Given the description of an element on the screen output the (x, y) to click on. 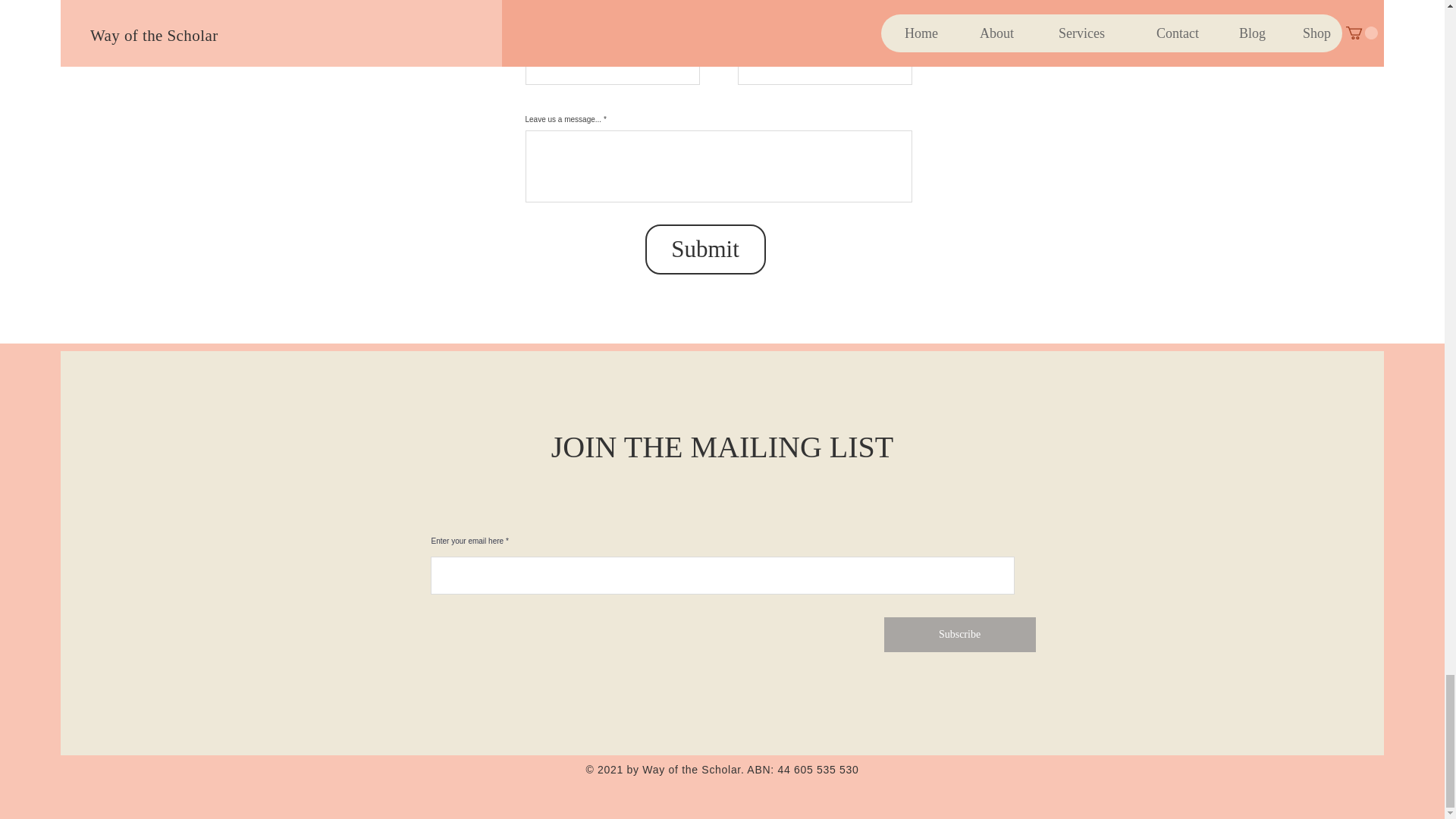
Subscribe (959, 634)
Submit (705, 249)
